Given the description of an element on the screen output the (x, y) to click on. 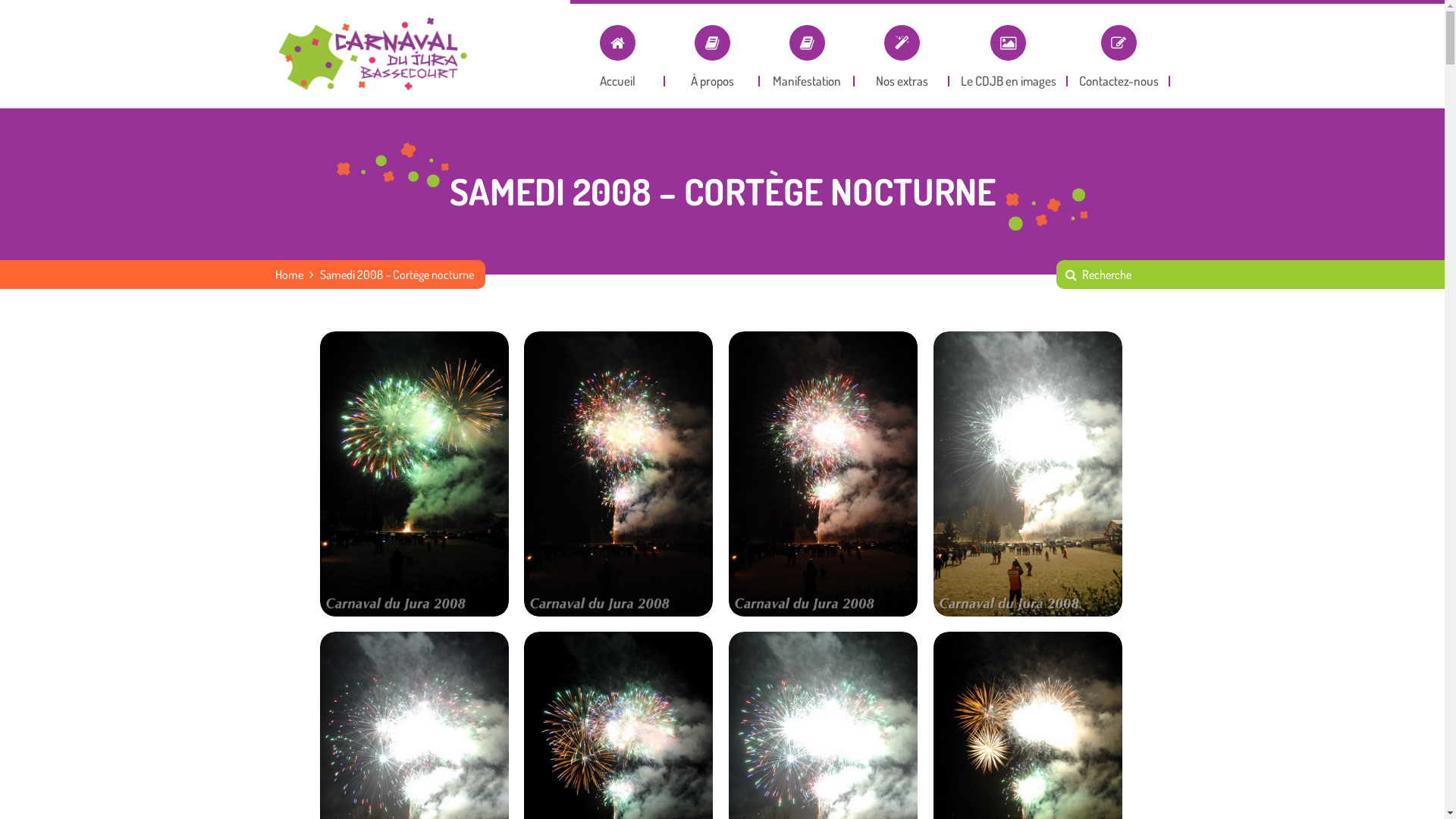
SAM_COR_FEU_0205 Element type: hover (1027, 473)
Nos extras Element type: text (900, 43)
Accueil Element type: text (617, 43)
Le CDJB en images Element type: text (1008, 43)
Manifestation Element type: text (806, 43)
Contactez-nous Element type: text (1118, 43)
SAM_COR_FEU_0206 Element type: hover (822, 473)
SAM_COR_FEU_0208 Element type: hover (414, 473)
SAM_COR_FEU_0207 Element type: hover (617, 473)
Home Element type: text (288, 274)
